Given the description of an element on the screen output the (x, y) to click on. 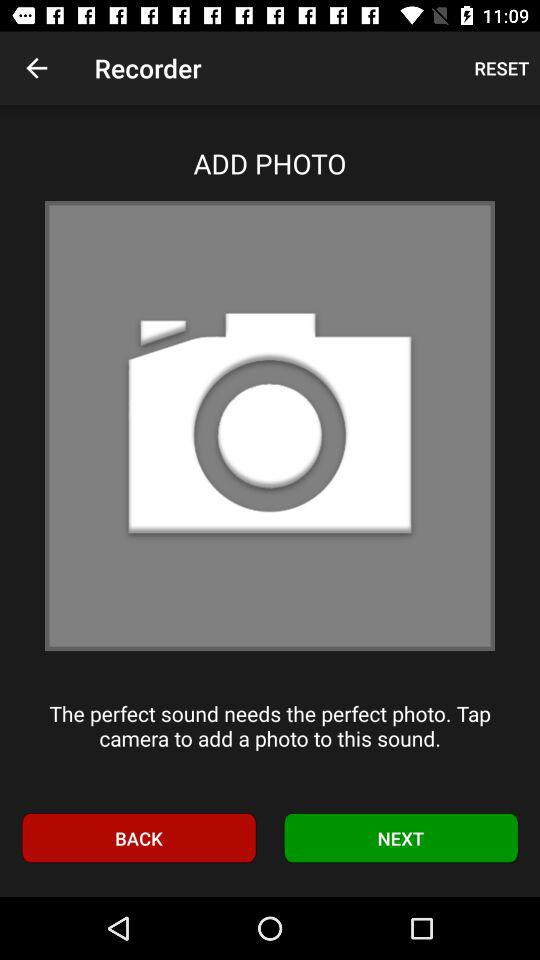
press the item next to the back item (401, 838)
